Given the description of an element on the screen output the (x, y) to click on. 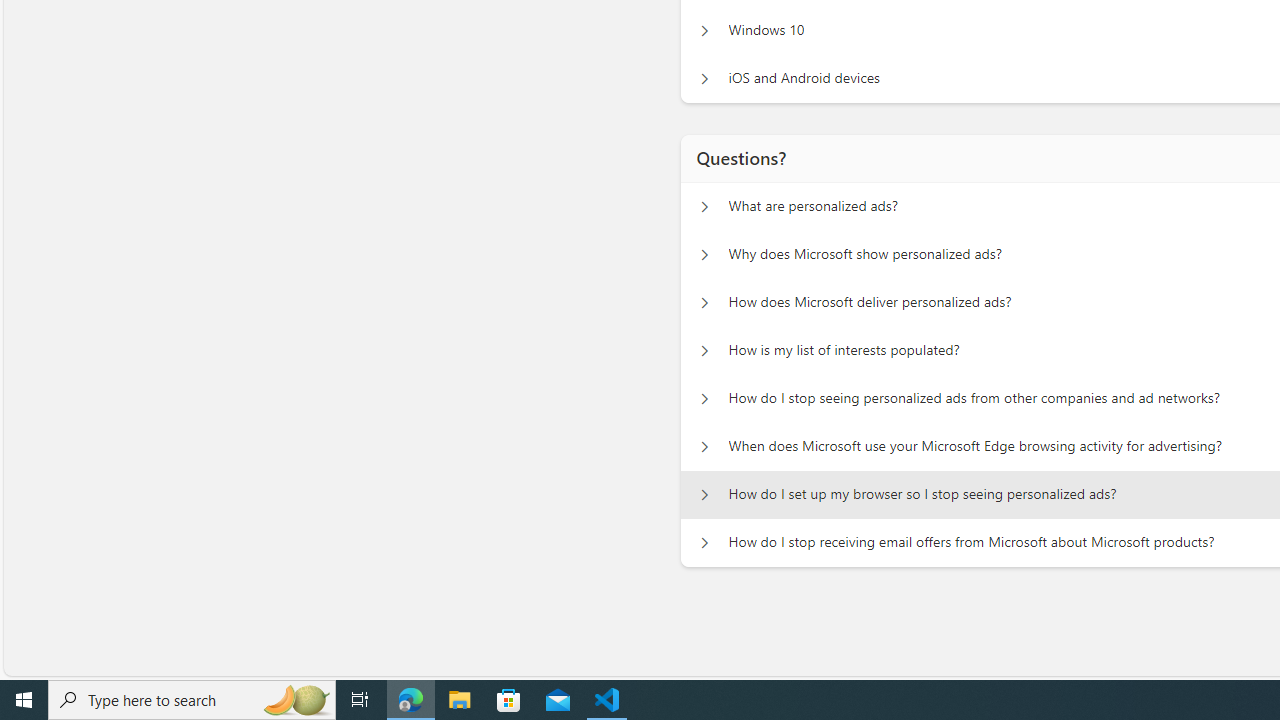
Questions? Why does Microsoft show personalized ads? (704, 255)
Manage personalized ads on your device Windows 10 (704, 30)
Questions? How does Microsoft deliver personalized ads? (704, 302)
Questions? How is my list of interests populated? (704, 350)
Questions? What are personalized ads? (704, 206)
